Given the description of an element on the screen output the (x, y) to click on. 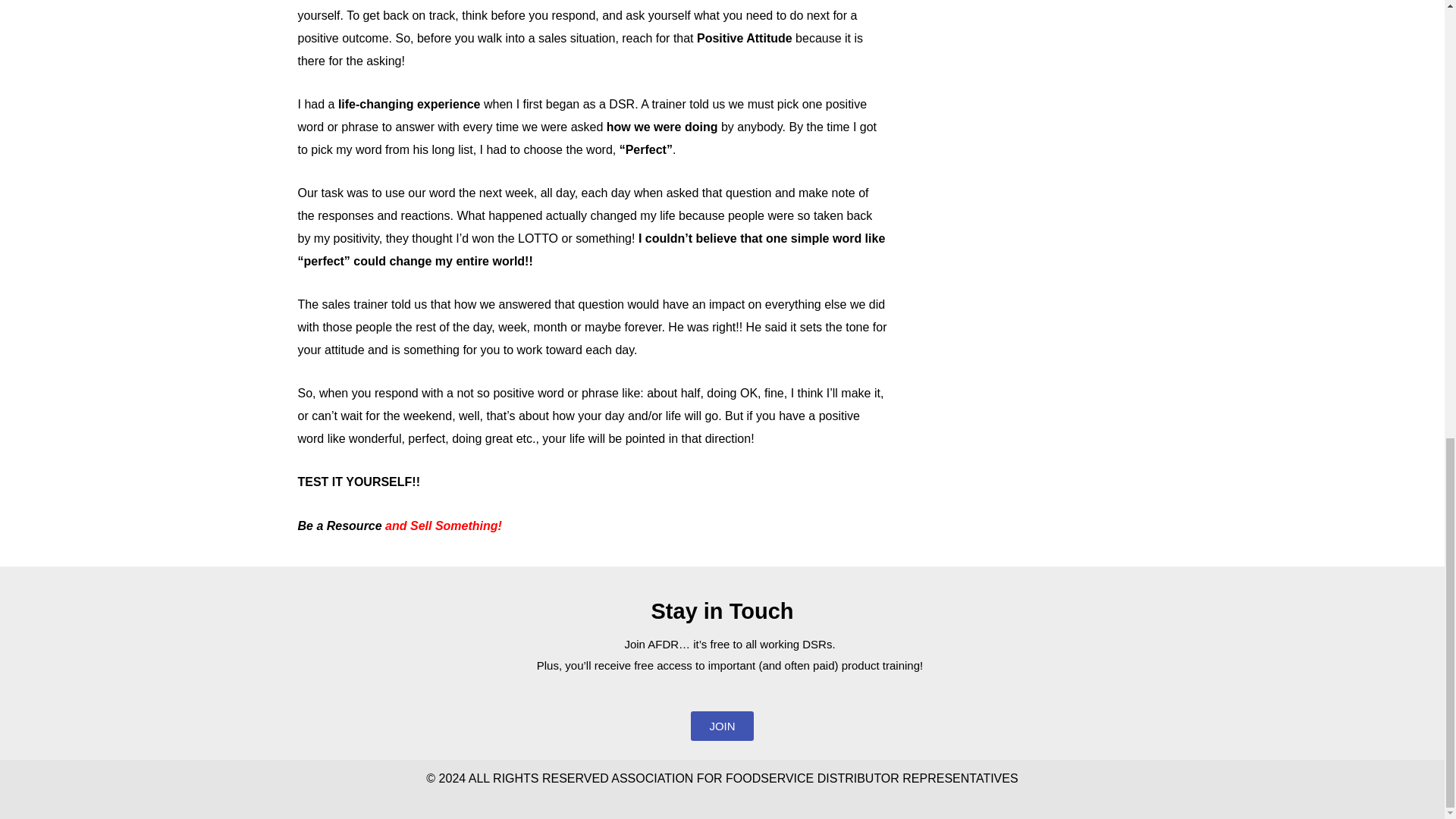
JOIN (721, 726)
